Given the description of an element on the screen output the (x, y) to click on. 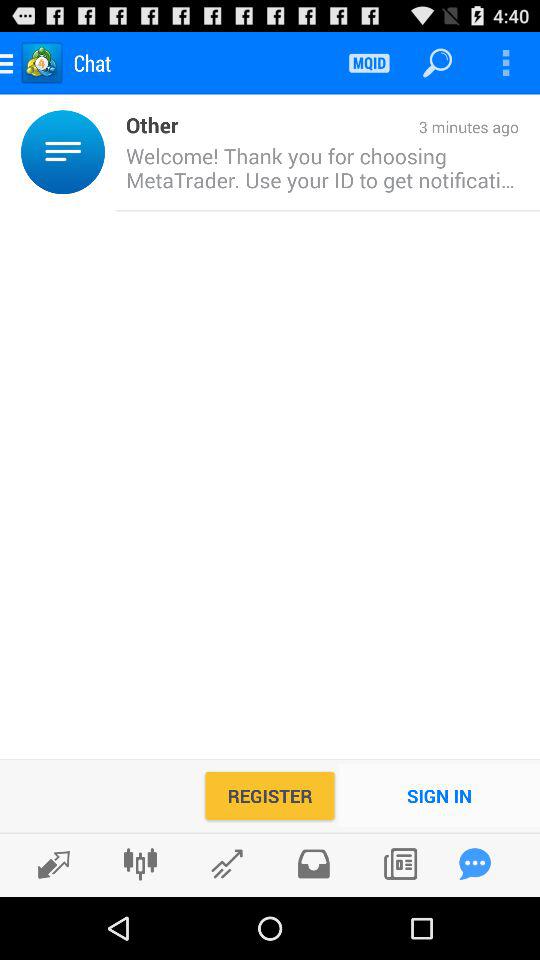
turn off the welcome thank you (317, 167)
